Given the description of an element on the screen output the (x, y) to click on. 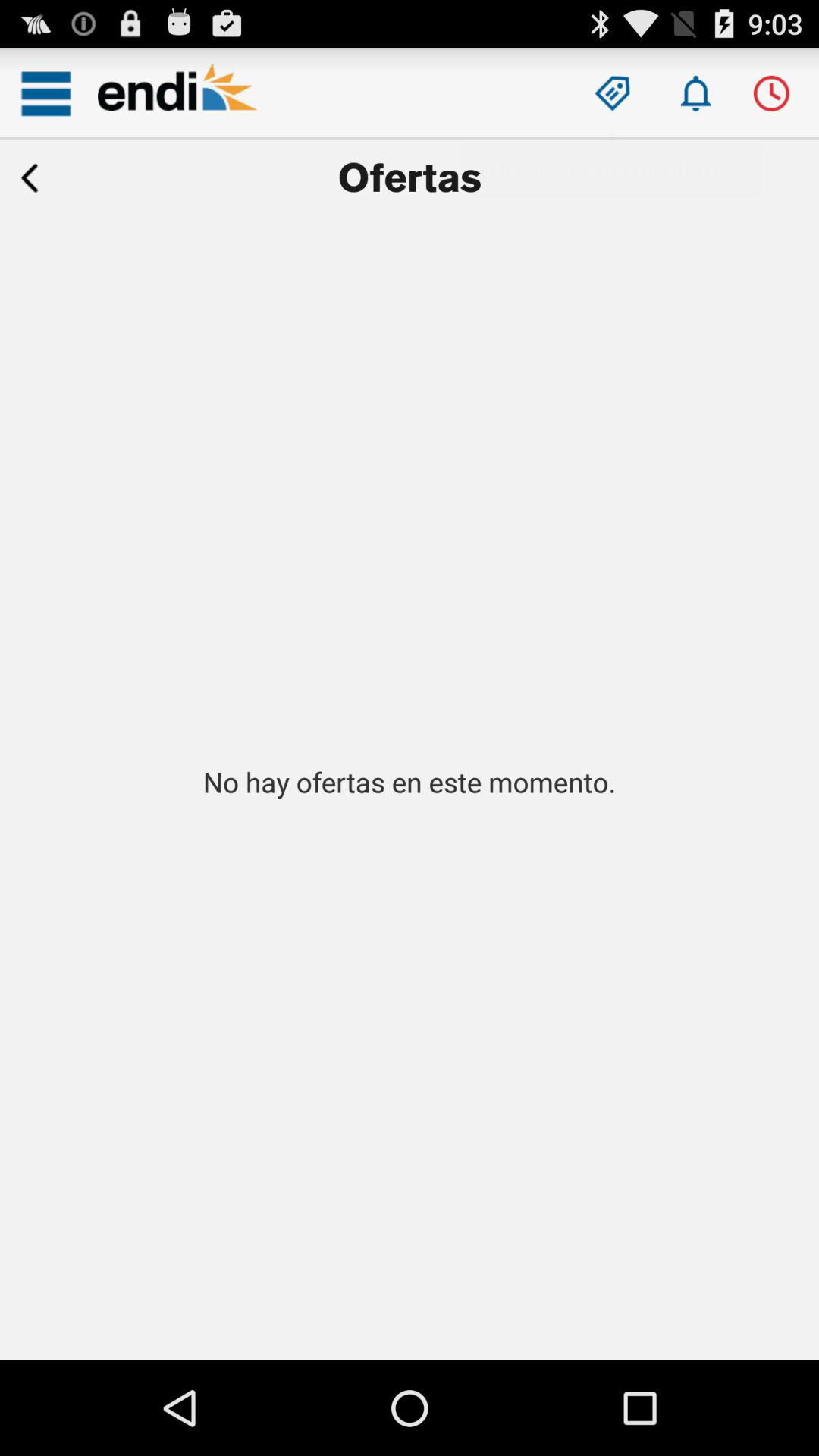
go back (29, 178)
